Given the description of an element on the screen output the (x, y) to click on. 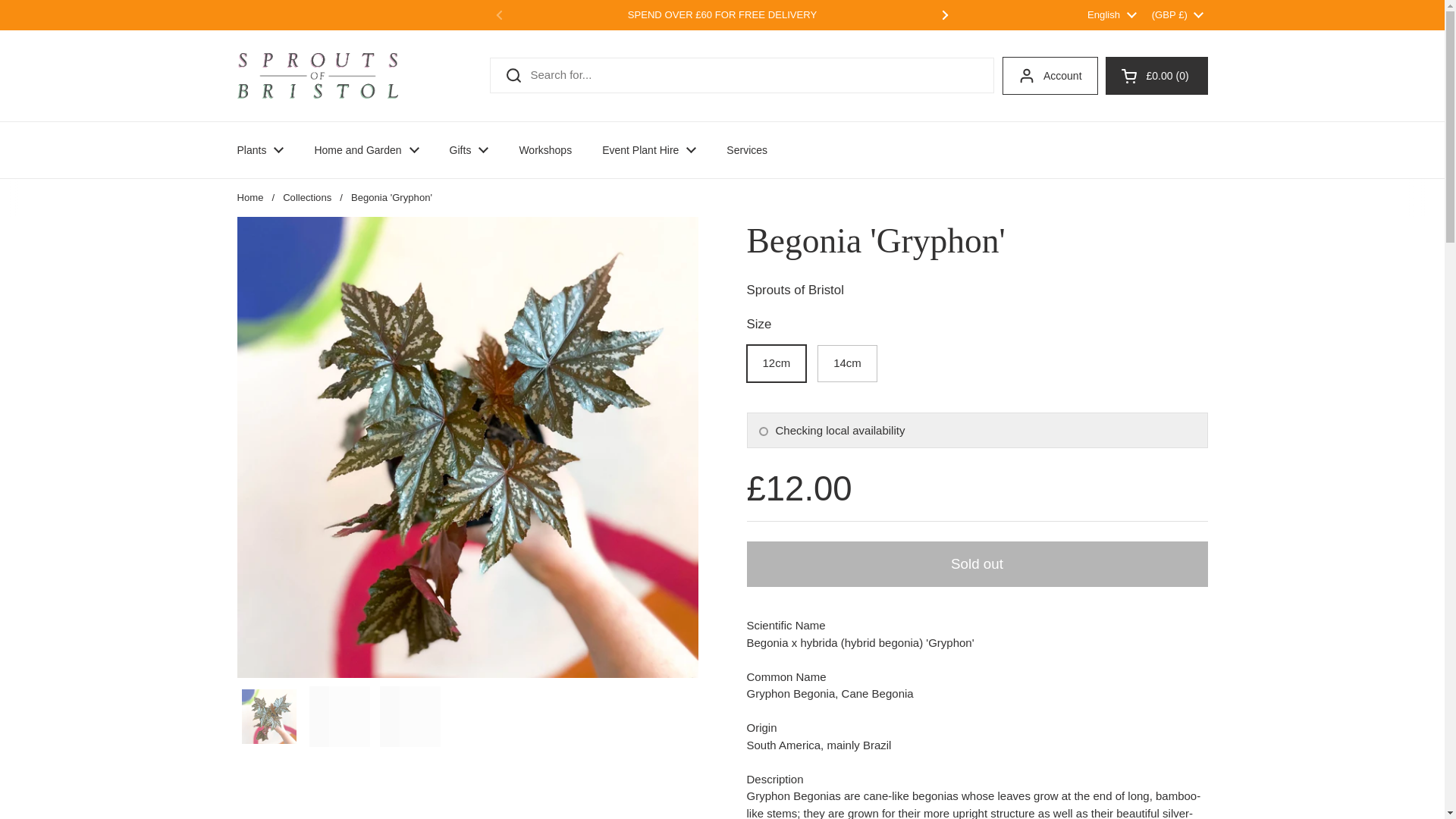
Account (1050, 75)
Plants (259, 150)
Plants (259, 150)
English (1112, 14)
Sprouts of Bristol (316, 75)
Open cart (1156, 75)
